Given the description of an element on the screen output the (x, y) to click on. 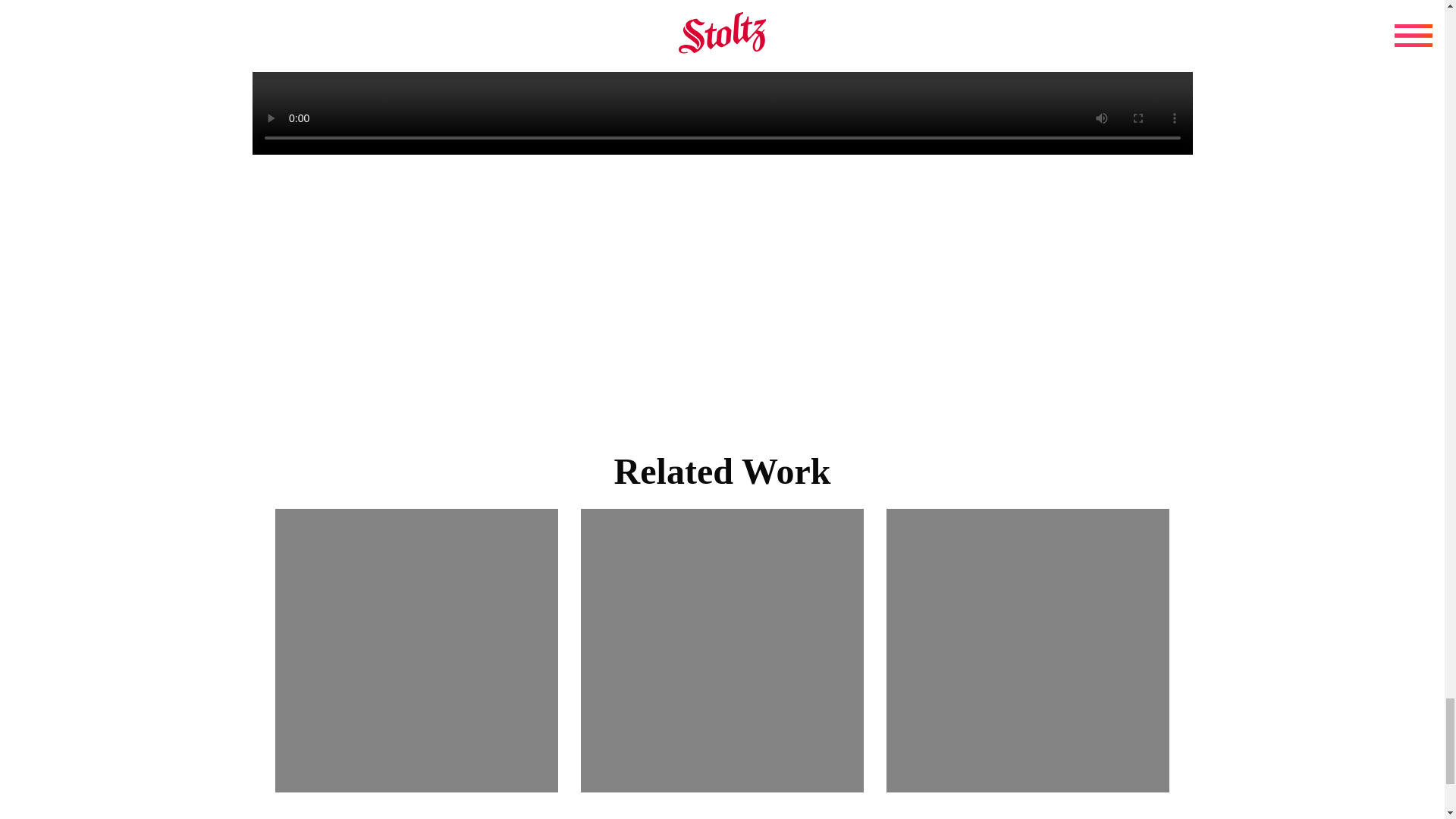
Idaho Dept. of Fish and Game - Fish Idaho Campaign (416, 649)
Giraffe Laugh (721, 649)
City Go (1027, 649)
